Given the description of an element on the screen output the (x, y) to click on. 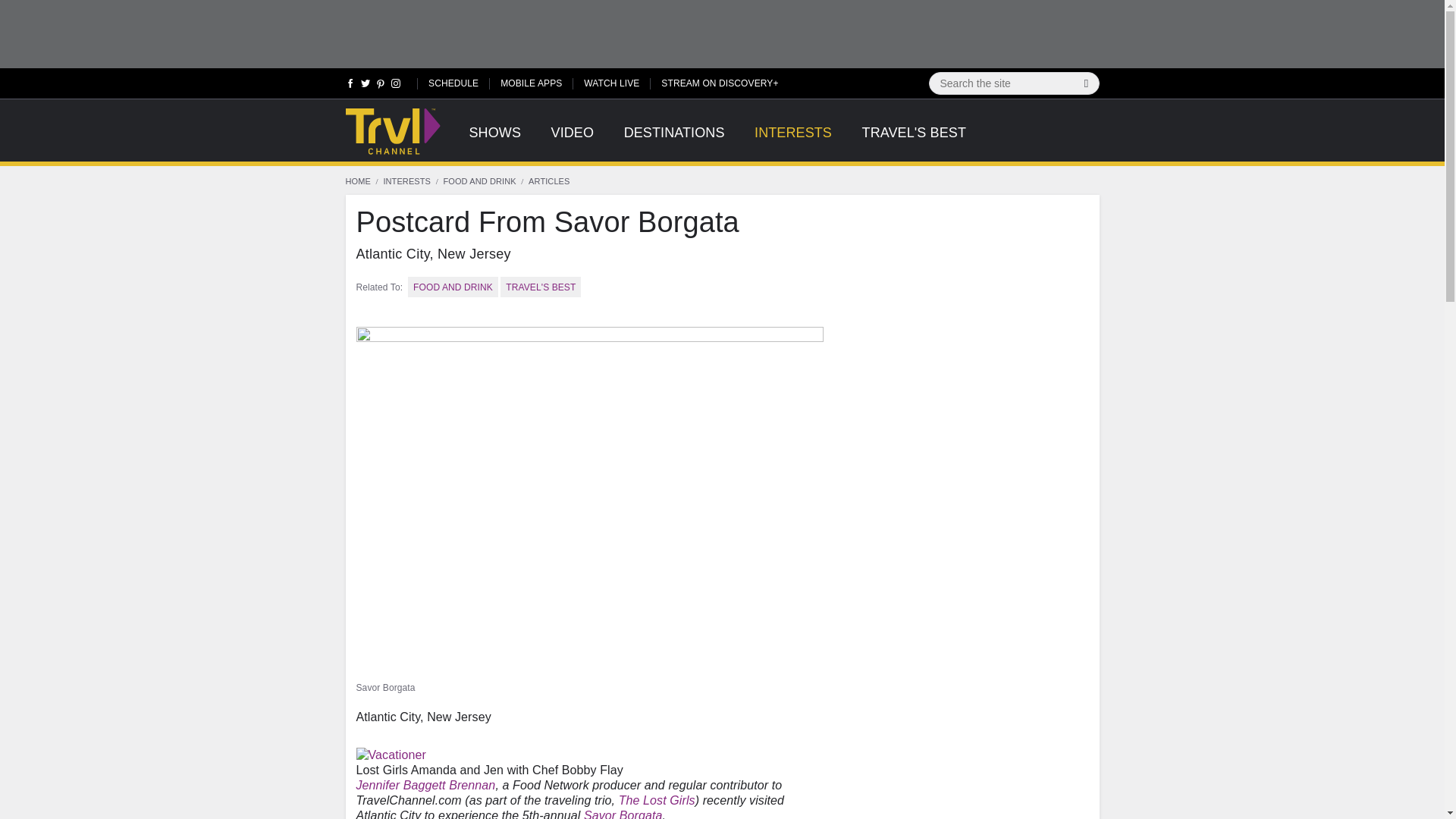
Follow us on Twitter (365, 86)
SCHEDULE (453, 81)
WATCH LIVE (611, 81)
SHOWS (494, 140)
Vacationer (391, 754)
Follow us on Pinterest (380, 86)
Follow us on Instagram (394, 86)
Follow us on Facebook (350, 86)
MOBILE APPS (531, 81)
